Given the description of an element on the screen output the (x, y) to click on. 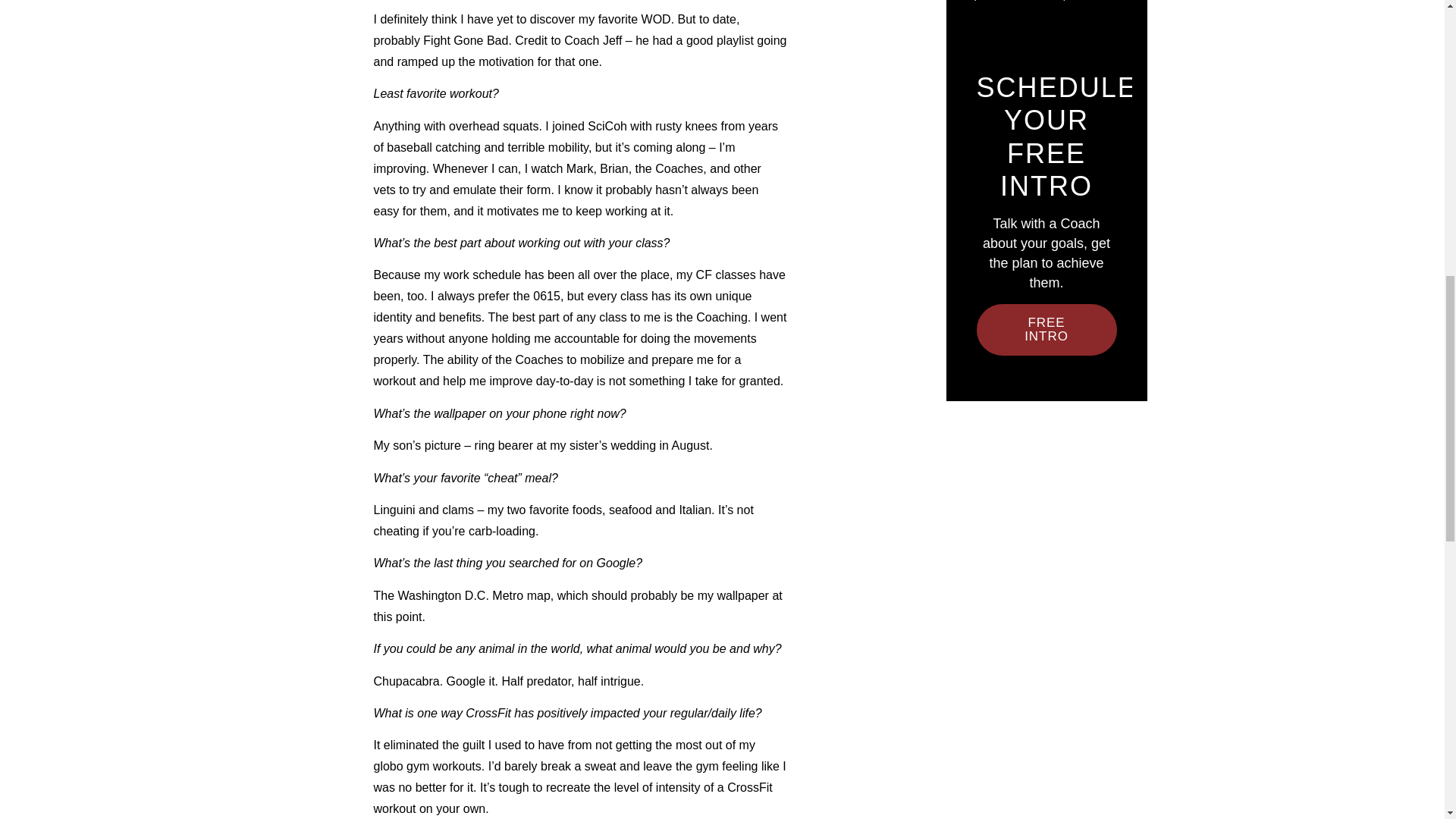
FREE INTRO (1046, 329)
